Given the description of an element on the screen output the (x, y) to click on. 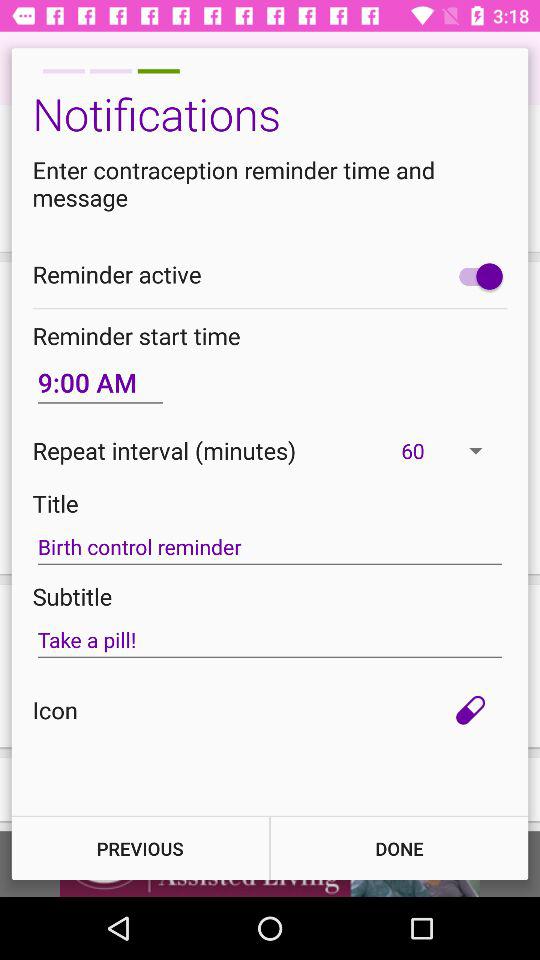
toggle reminder to active (476, 275)
